Given the description of an element on the screen output the (x, y) to click on. 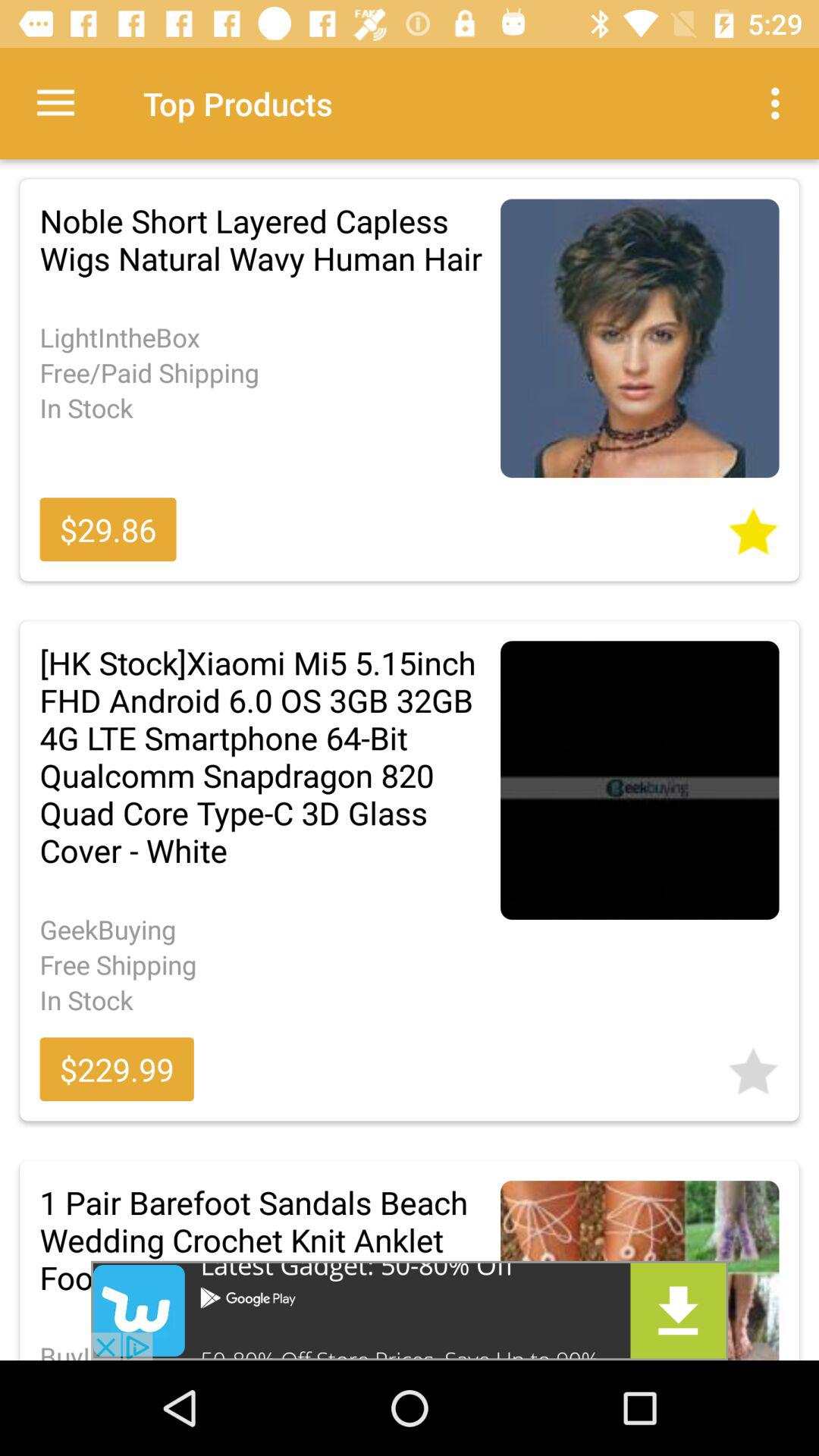
highlight the favorable image (753, 1066)
